Given the description of an element on the screen output the (x, y) to click on. 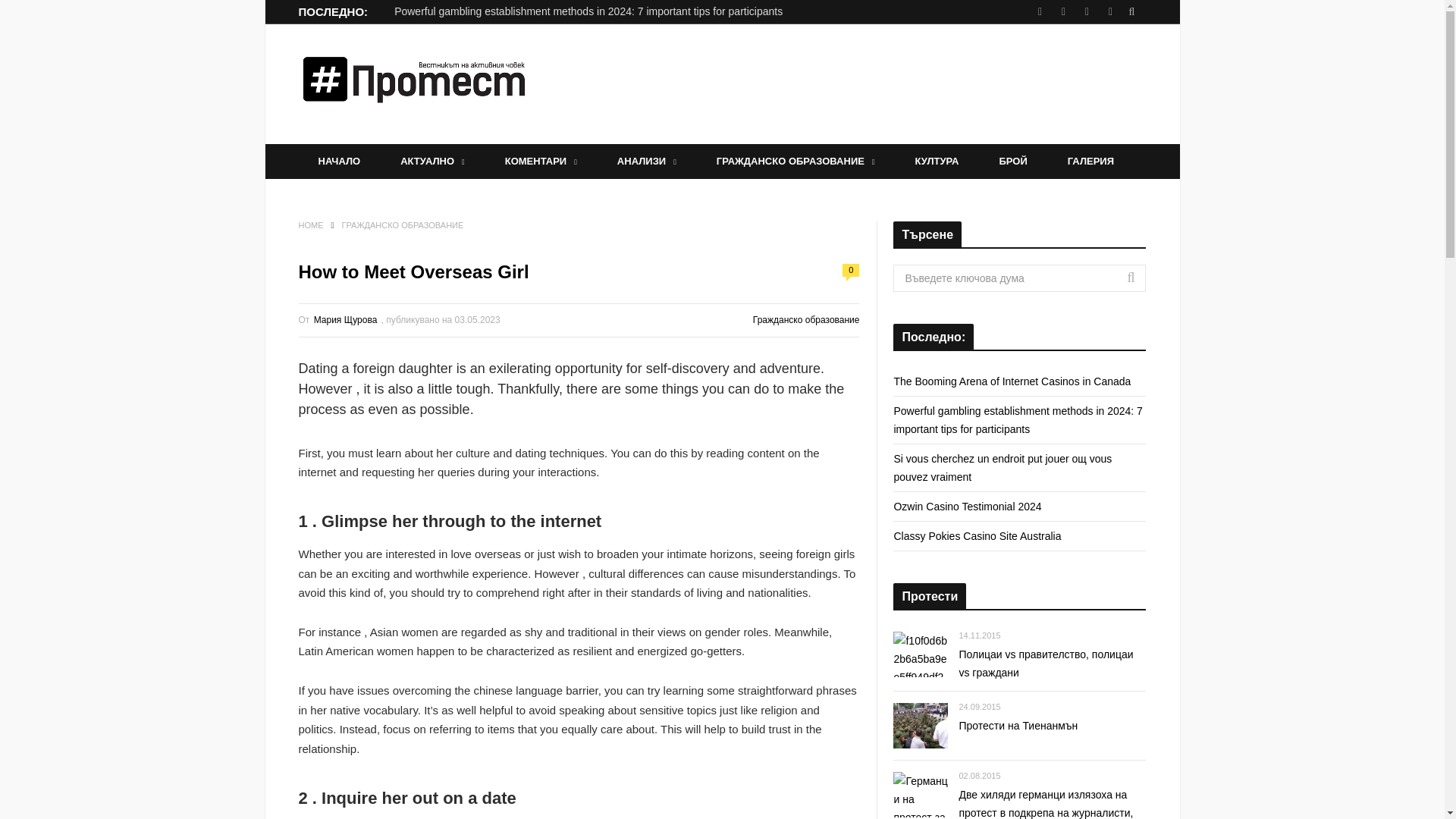
Twitter (1109, 11)
RSS (1087, 11)
Facebook (1039, 11)
